Given the description of an element on the screen output the (x, y) to click on. 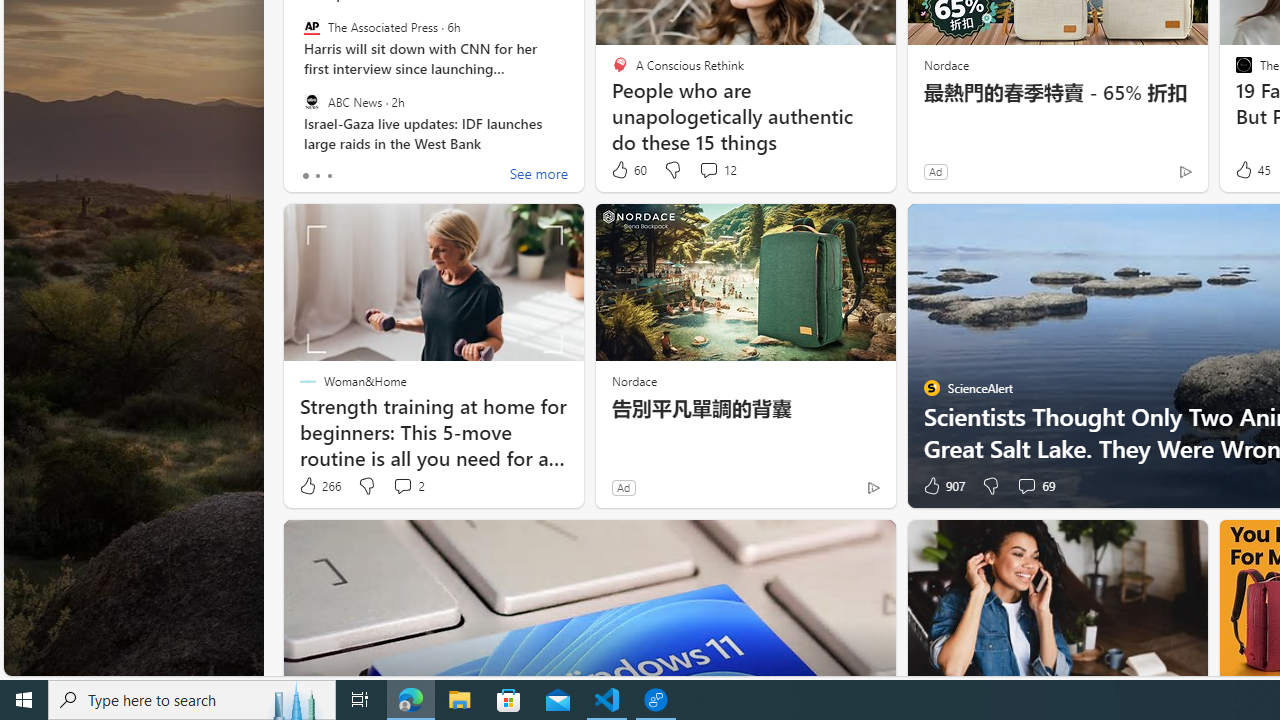
60 Like (628, 170)
266 Like (319, 485)
tab-0 (305, 175)
View comments 2 Comment (408, 485)
45 Like (1251, 170)
tab-2 (328, 175)
The Associated Press (311, 27)
View comments 12 Comment (716, 170)
View comments 69 Comment (1026, 485)
